Given the description of an element on the screen output the (x, y) to click on. 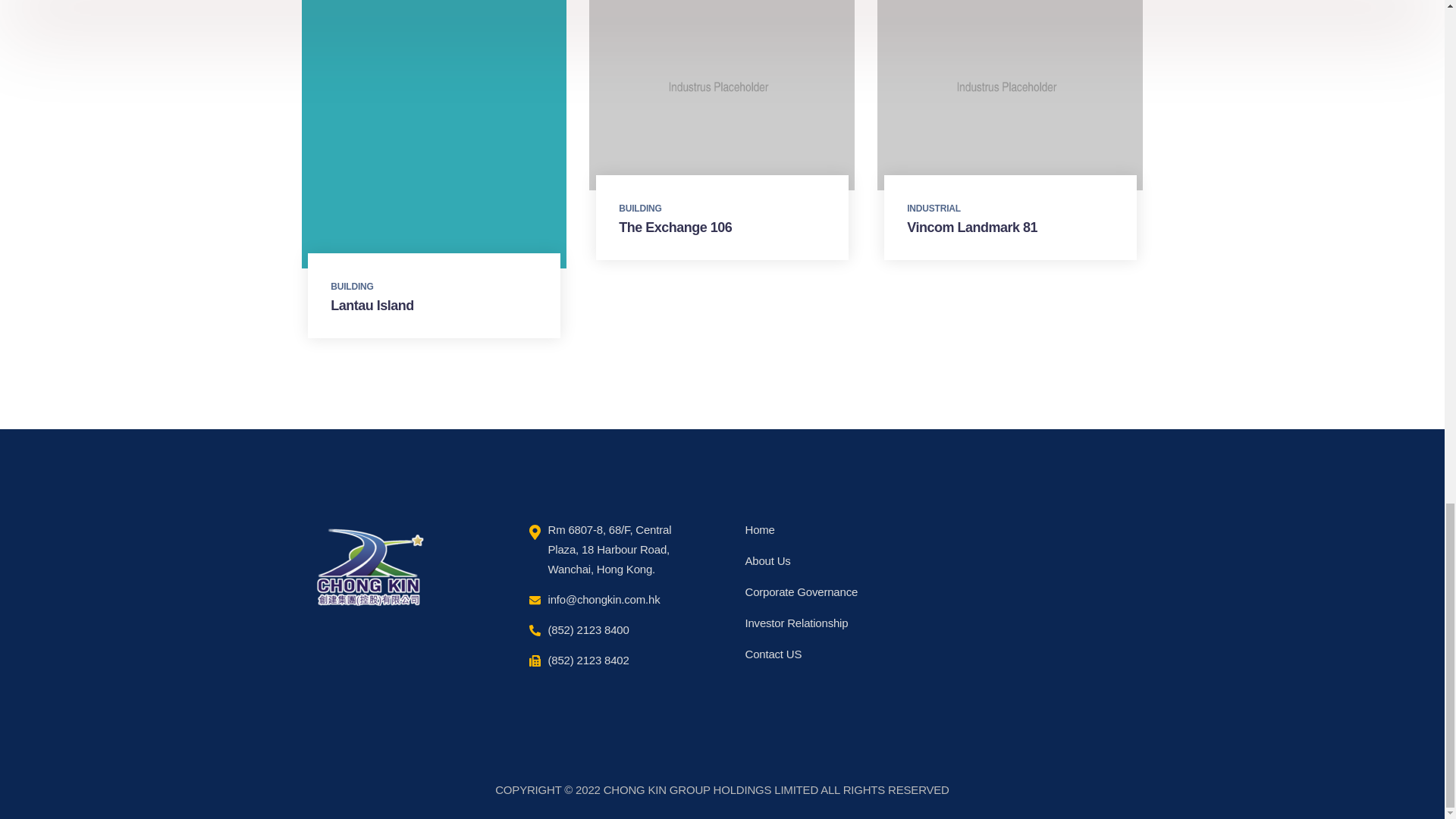
BUILDING (351, 286)
Lantau Island (371, 305)
The Exchange 106 (675, 227)
Corporate Governance (800, 591)
Investor Relationship (795, 622)
Vincom Landmark 81 (971, 227)
About Us (767, 560)
BUILDING (639, 208)
INDUSTRIAL (933, 208)
Home (759, 529)
